Given the description of an element on the screen output the (x, y) to click on. 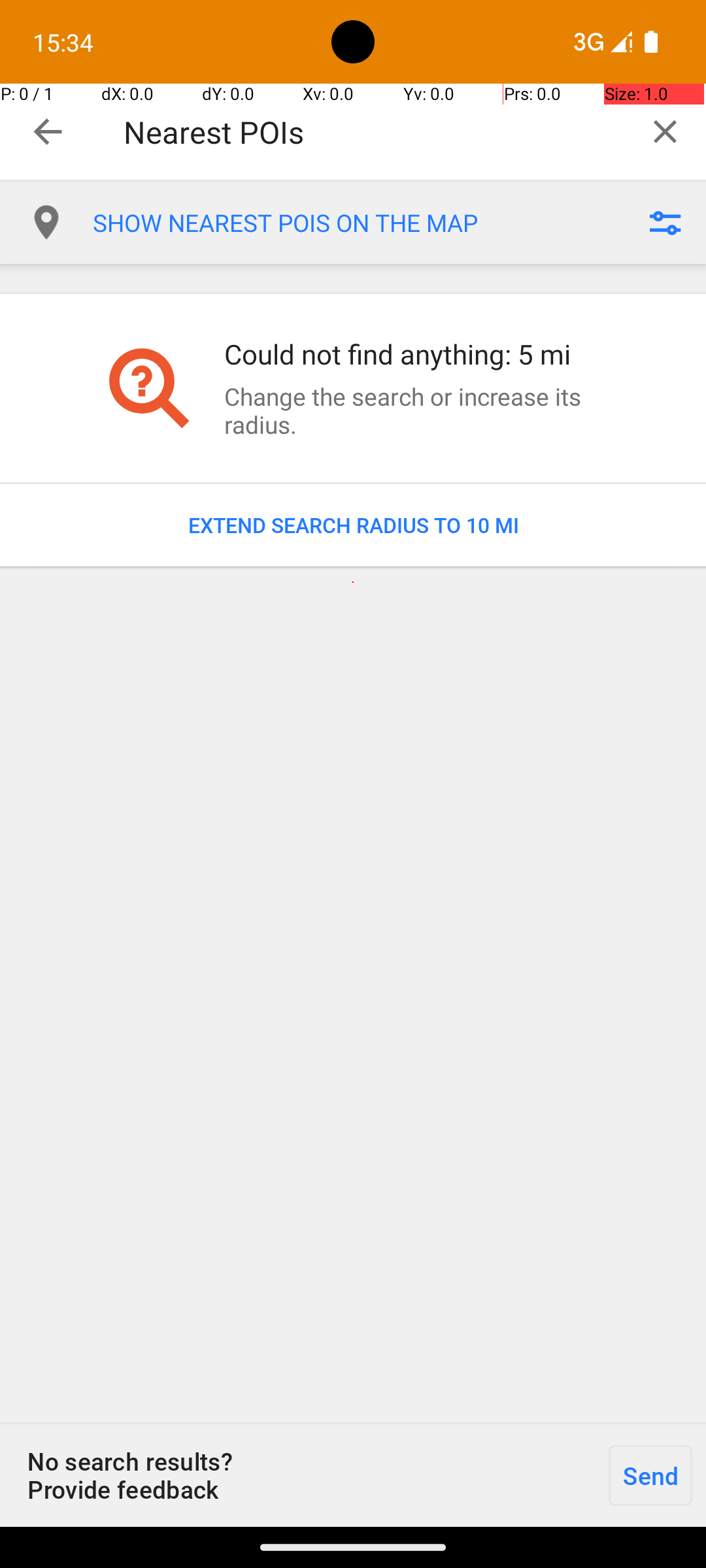
No search results?
Provide feedback Element type: android.widget.TextView (297, 1475)
Nearest POIs  Element type: android.widget.EditText (373, 131)
Clear Element type: android.widget.ImageButton (664, 131)
SHOW NEAREST POIS ON THE MAP Element type: android.widget.TextView (357, 222)
Custom filter Element type: android.widget.ImageButton (664, 222)
Send Element type: android.widget.TextView (650, 1475)
Could not find anything: 5 mi Element type: android.widget.TextView (414, 353)
Change the search or increase its radius. Element type: android.widget.TextView (414, 410)
EXTEND SEARCH RADIUS TO 10 MI Element type: android.widget.TextView (352, 524)
